Given the description of an element on the screen output the (x, y) to click on. 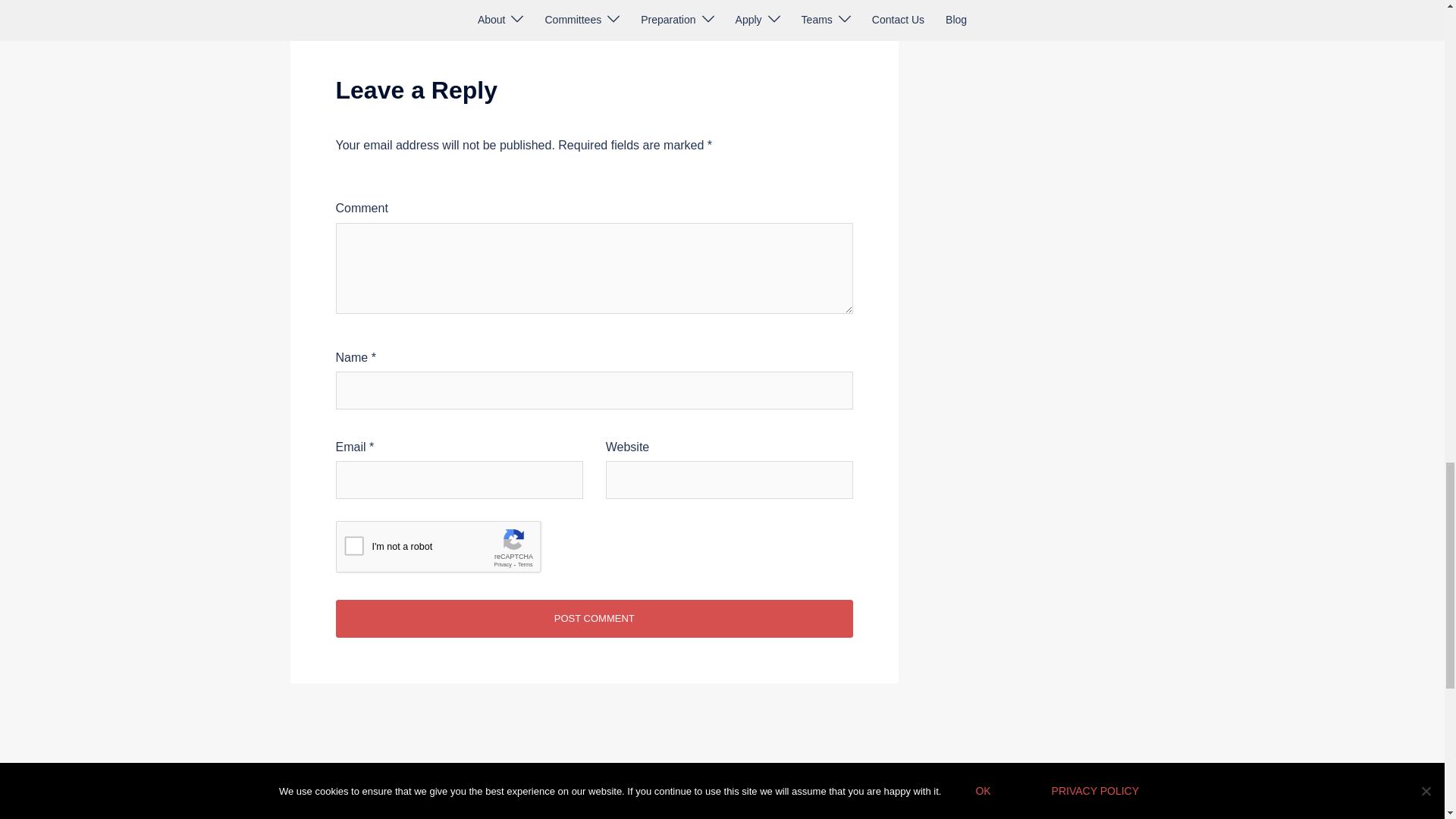
reCAPTCHA (450, 549)
Post Comment (593, 618)
